Given the description of an element on the screen output the (x, y) to click on. 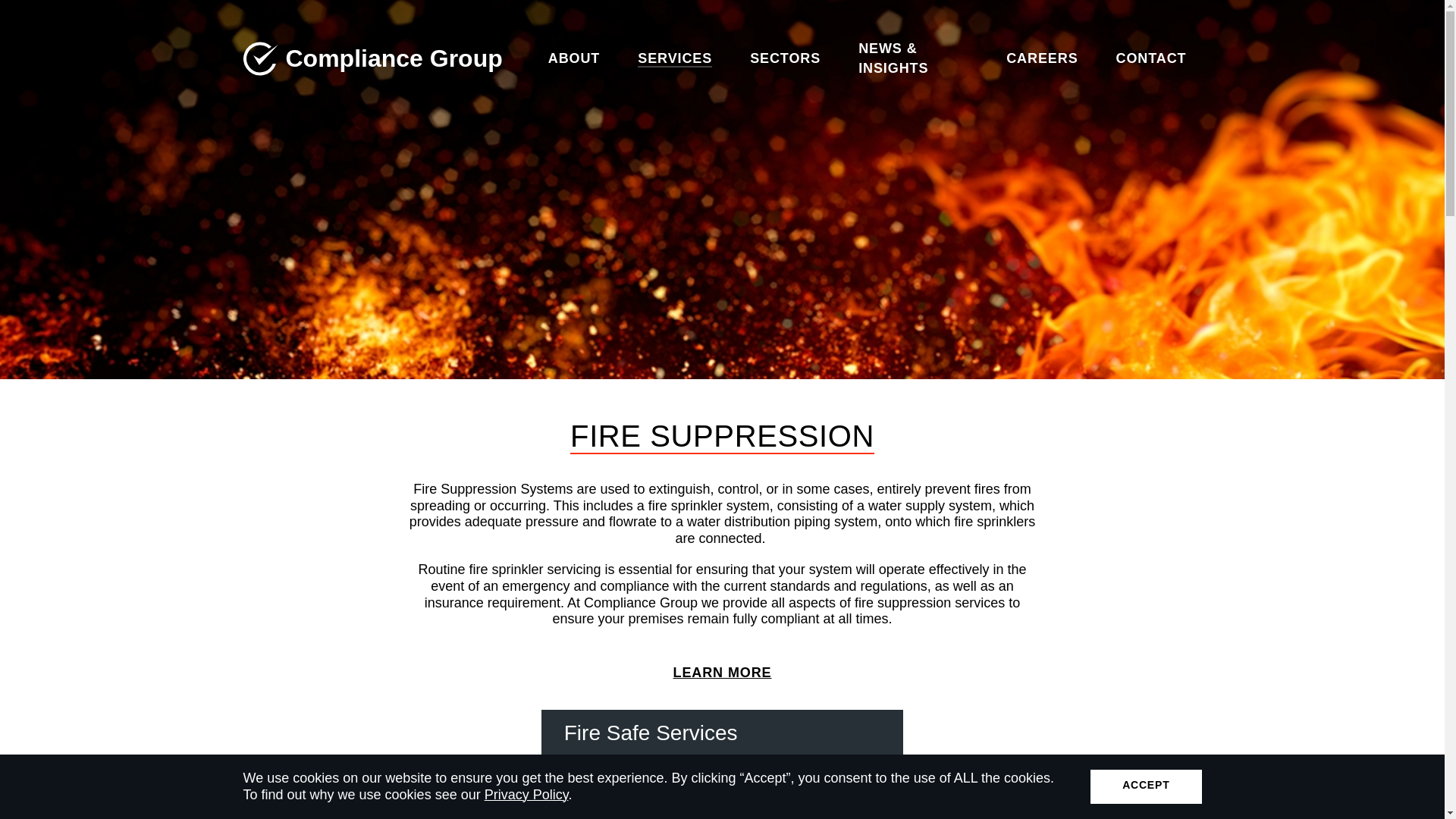
CAREERS (1042, 58)
CONTACT (1151, 58)
SERVICES (674, 58)
Compliance Group (372, 57)
ABOUT (558, 58)
SECTORS (785, 58)
